Given the description of an element on the screen output the (x, y) to click on. 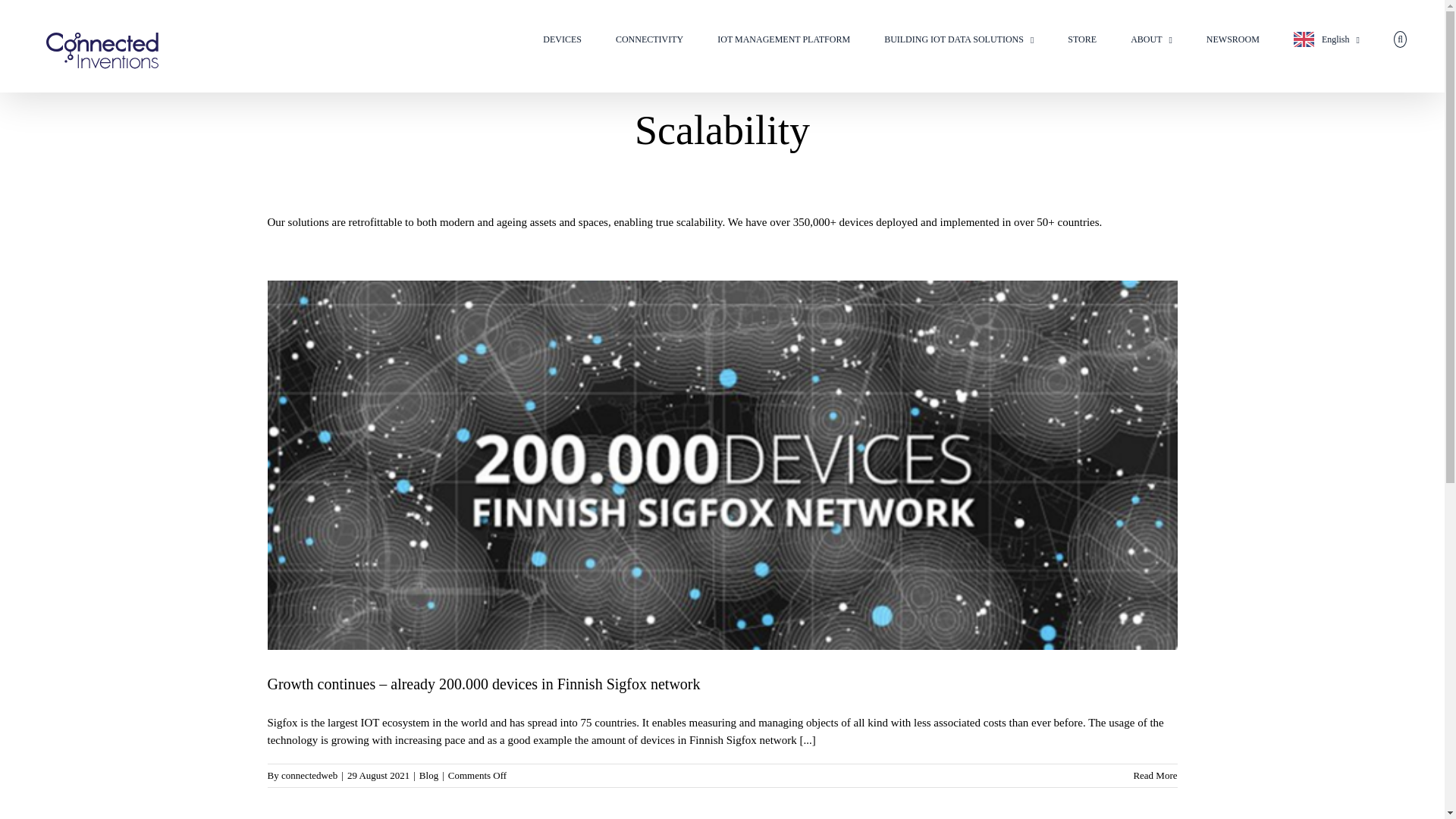
BUILDING IOT DATA SOLUTIONS (958, 39)
English (1326, 39)
Posts by connectedweb (309, 775)
IOT MANAGEMENT PLATFORM (783, 39)
CONNECTIVITY (648, 39)
English (1326, 39)
